Given the description of an element on the screen output the (x, y) to click on. 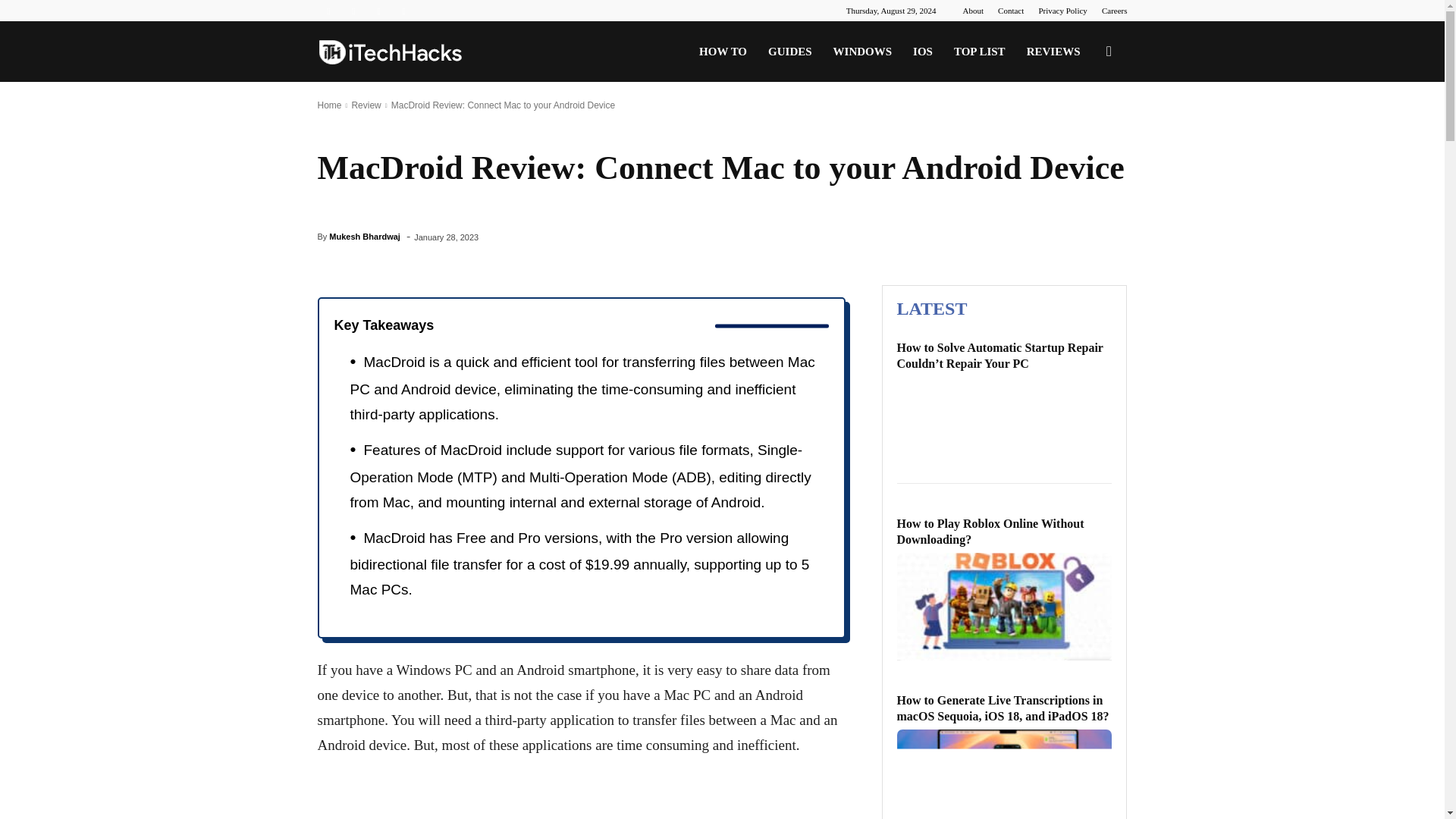
Careers (1114, 10)
Privacy Policy (1062, 10)
Twitter (379, 10)
Pinterest (353, 10)
GUIDES (789, 51)
Youtube (403, 10)
Review (365, 104)
Search (1085, 124)
WINDOWS (862, 51)
Contact (1010, 10)
